Given the description of an element on the screen output the (x, y) to click on. 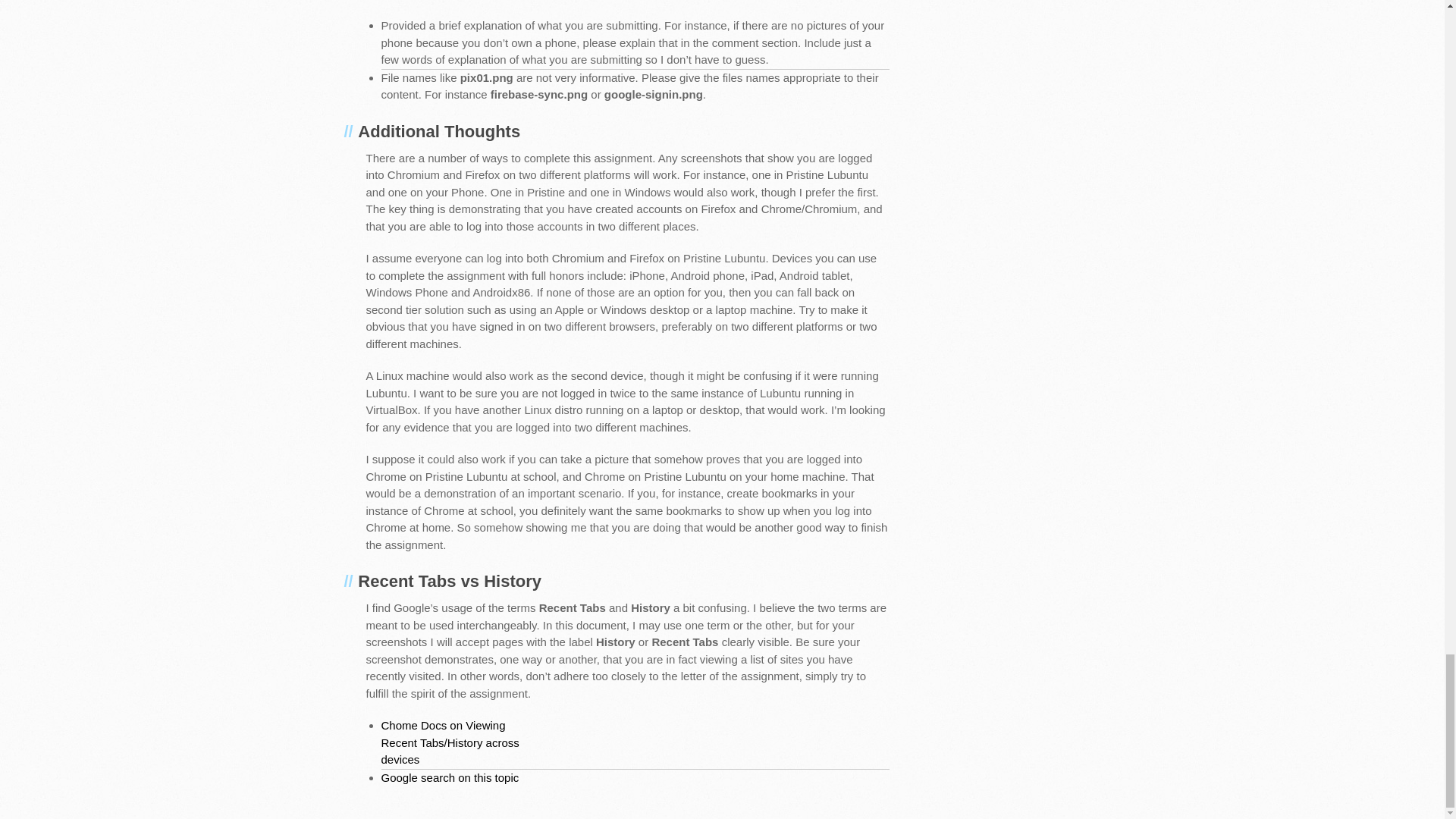
Google search on this topic (456, 778)
